Given the description of an element on the screen output the (x, y) to click on. 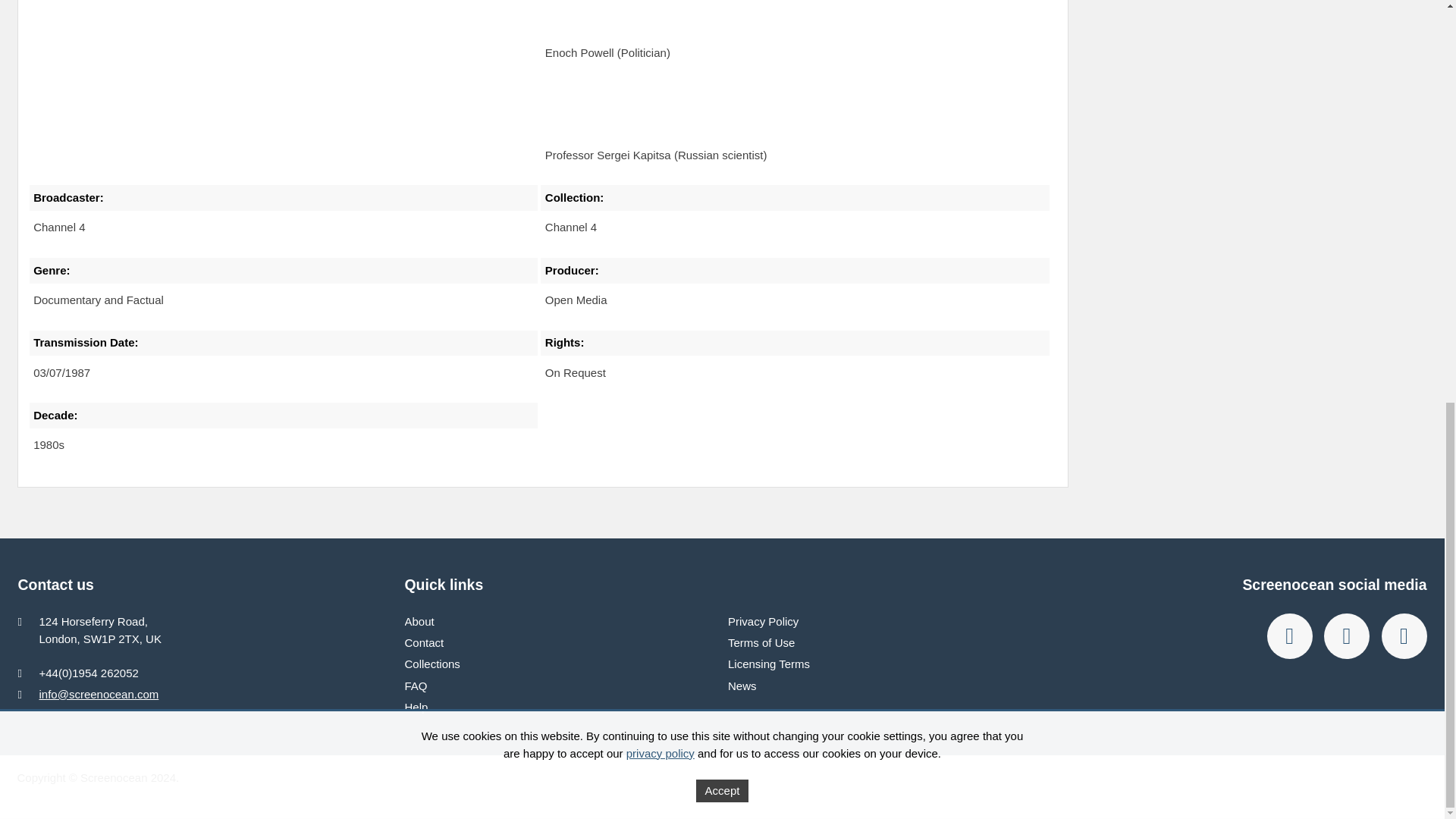
FAQ (416, 685)
Contact (424, 642)
Terms of Use (761, 642)
News (742, 685)
youtube (1403, 636)
Privacy Policy (762, 621)
Accept (721, 4)
Licensing Terms (768, 663)
Collections (432, 663)
linkedin (1289, 636)
About (418, 621)
Twitter (1346, 636)
Help (416, 707)
